Given the description of an element on the screen output the (x, y) to click on. 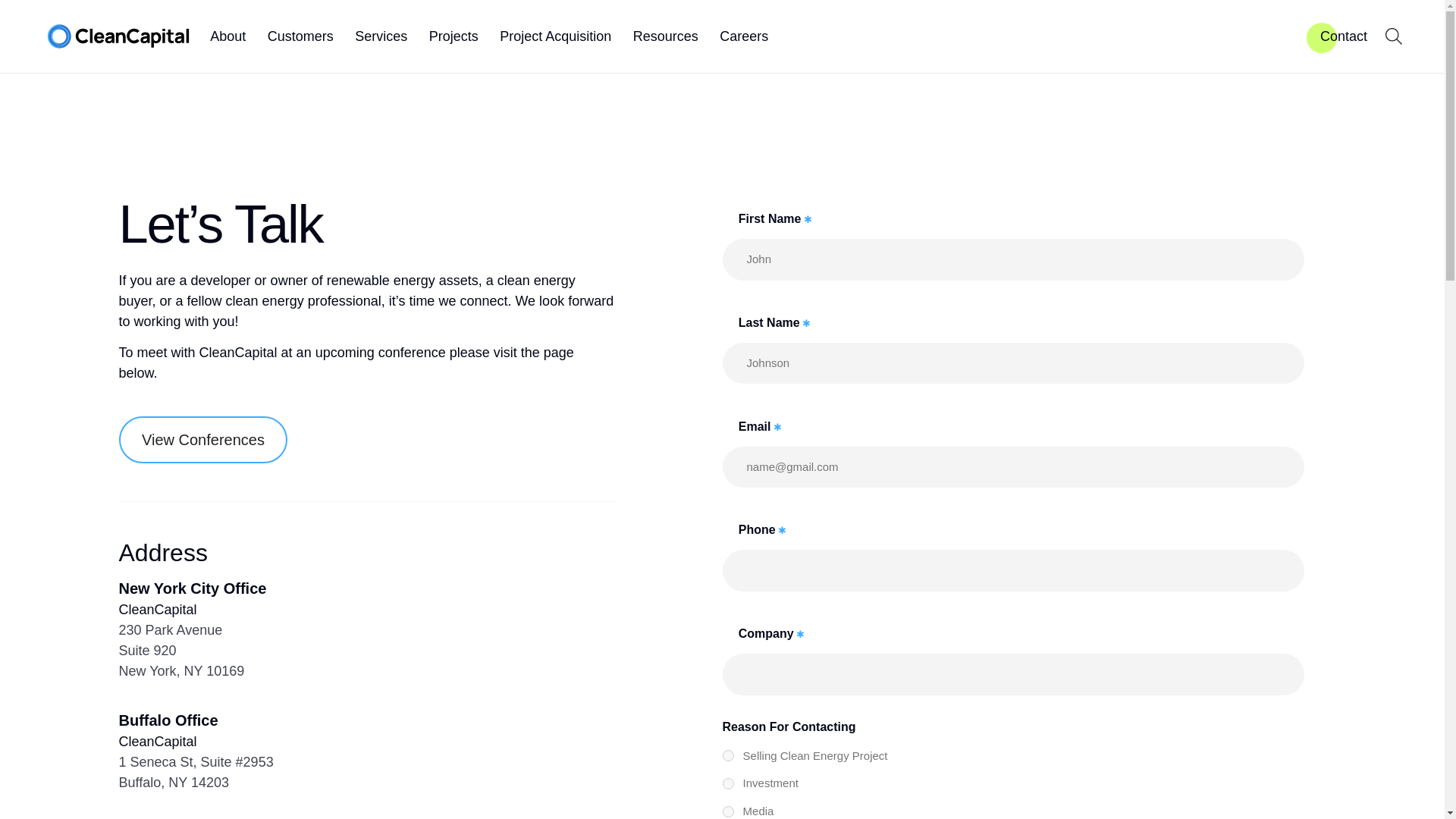
Services (381, 35)
Careers (743, 35)
Projects (454, 35)
Project Acquisition (555, 35)
Resources (665, 35)
Investment (727, 783)
Customers (300, 35)
Media (727, 811)
Contact (1343, 35)
Selling Clean Energy Project (727, 755)
About (227, 35)
View Conferences (201, 439)
